Given the description of an element on the screen output the (x, y) to click on. 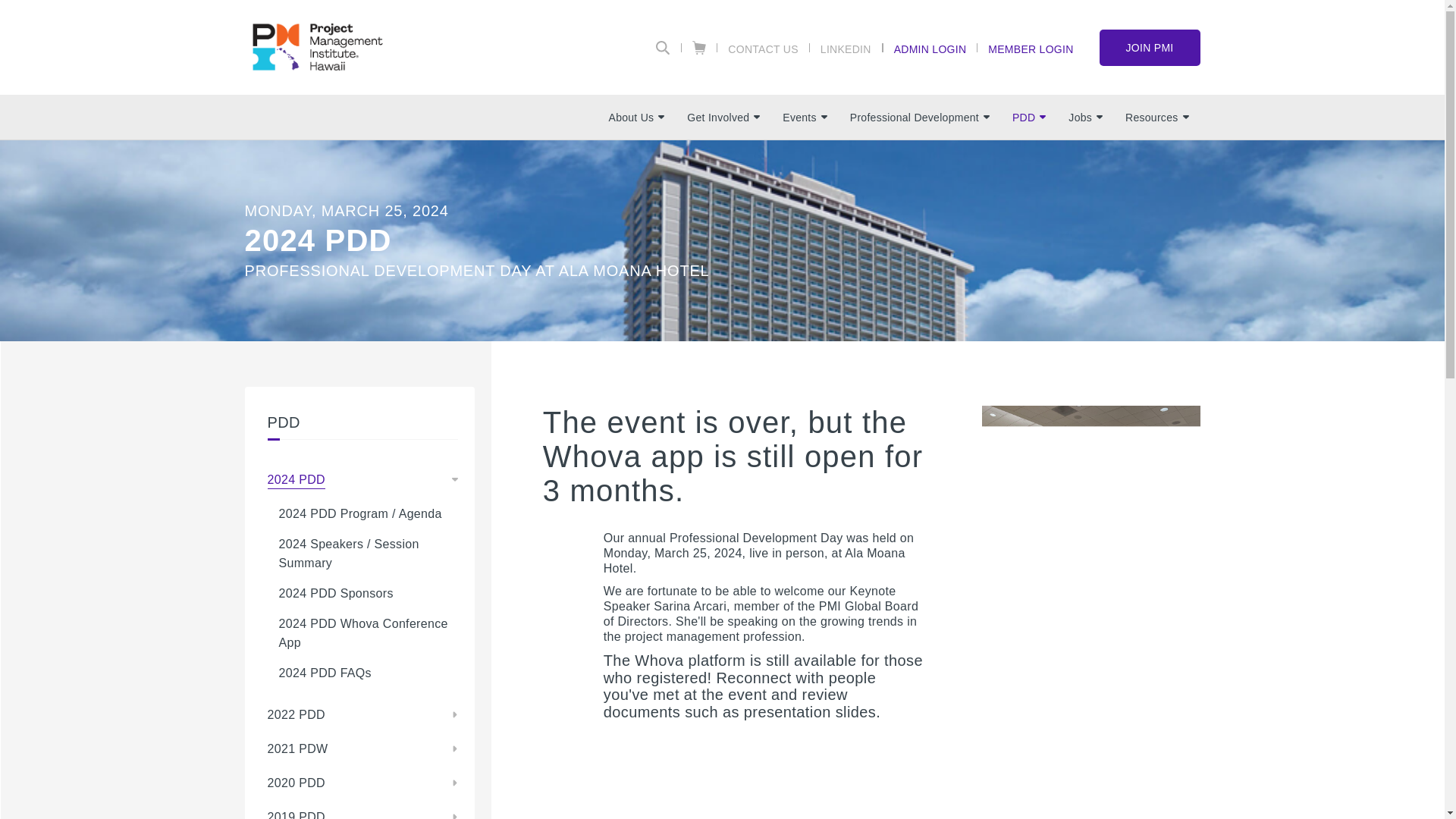
CONTACT US (763, 47)
JOIN PMI (1149, 46)
Get Involved (723, 117)
LINKEDIN (845, 47)
About Us (636, 117)
ADMIN LOGIN (929, 47)
MEMBER LOGIN (1029, 47)
Events (804, 117)
Search (663, 47)
